Given the description of an element on the screen output the (x, y) to click on. 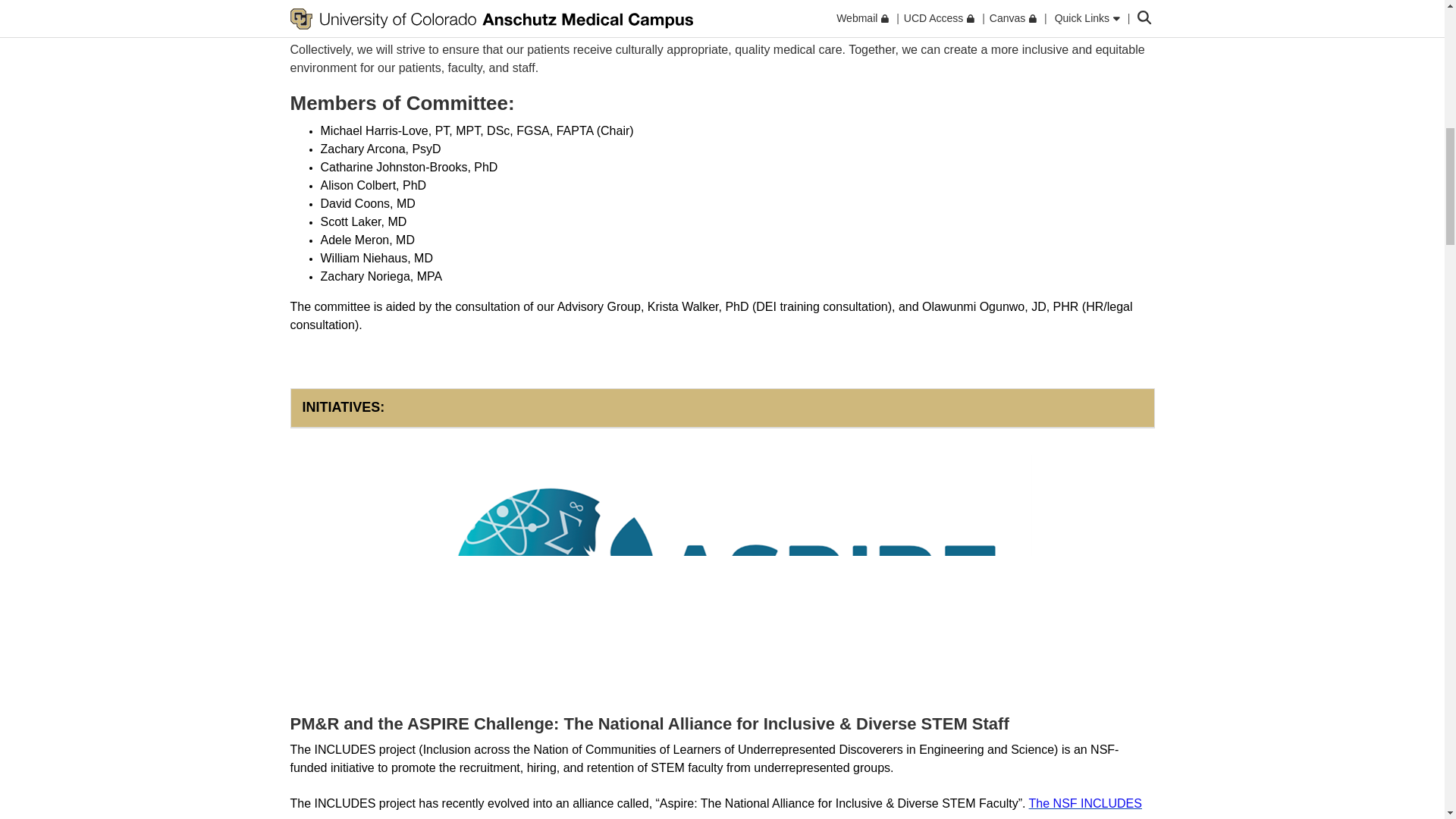
The NSF INCLUDES Aspire Alliance (715, 808)
